Given the description of an element on the screen output the (x, y) to click on. 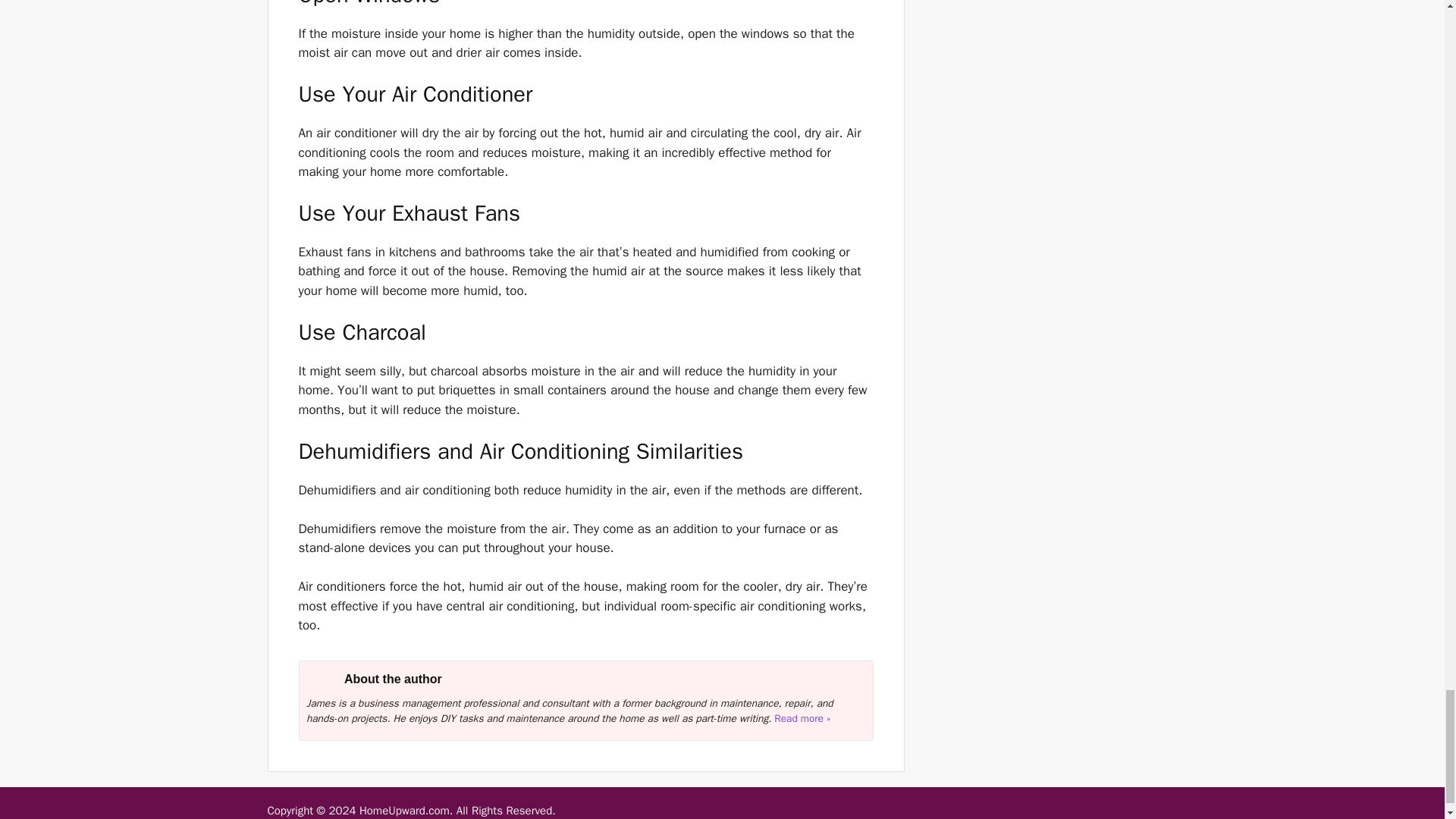
   Read more (801, 717)
